Given the description of an element on the screen output the (x, y) to click on. 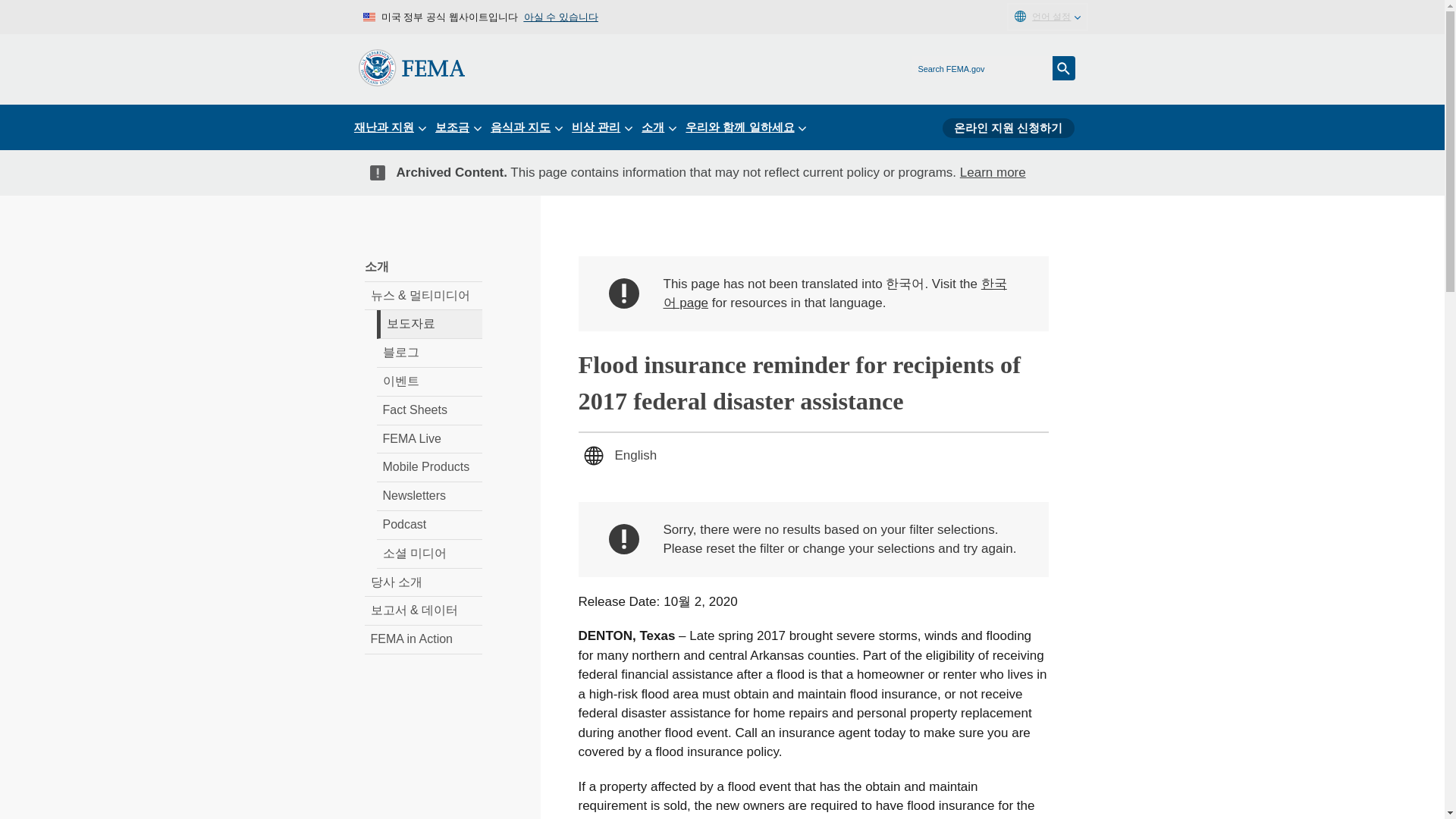
Podcast (428, 525)
English (635, 454)
Mobile Products (428, 467)
FEMA Live (428, 439)
Search FEMA.gov (1063, 68)
Search FEMA.gov (1063, 68)
Newsletters (428, 496)
FEMA in Action (422, 639)
Learn more (992, 172)
Fact Sheets (428, 410)
FEMA logo (411, 67)
